Given the description of an element on the screen output the (x, y) to click on. 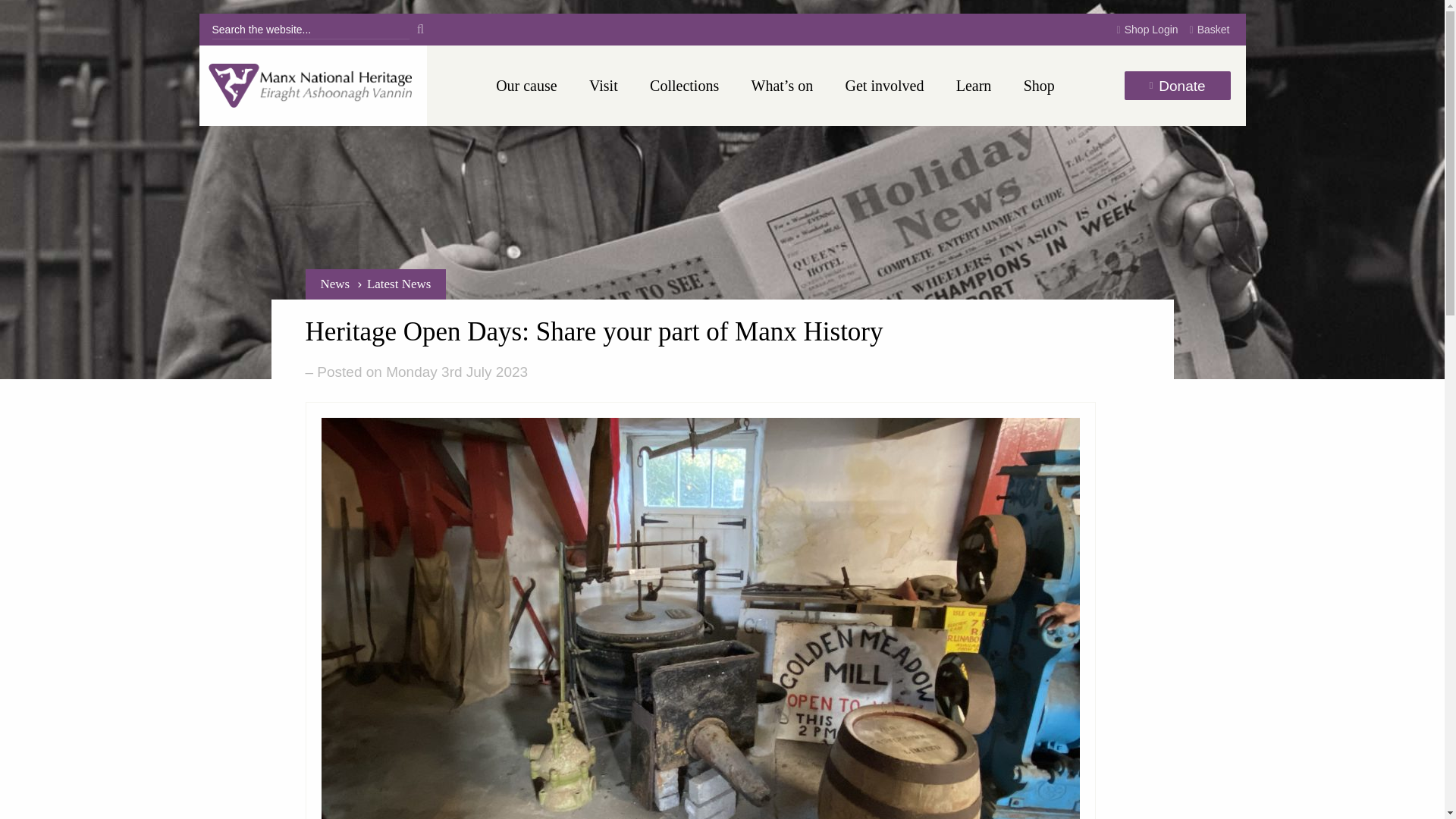
Return to home page (312, 85)
Go to the Latest News category archives. (398, 283)
Get involved (884, 85)
Go to News. (334, 283)
View your shopping cart (1209, 30)
Shop Login (1146, 30)
Basket (1209, 30)
Search (420, 29)
